Given the description of an element on the screen output the (x, y) to click on. 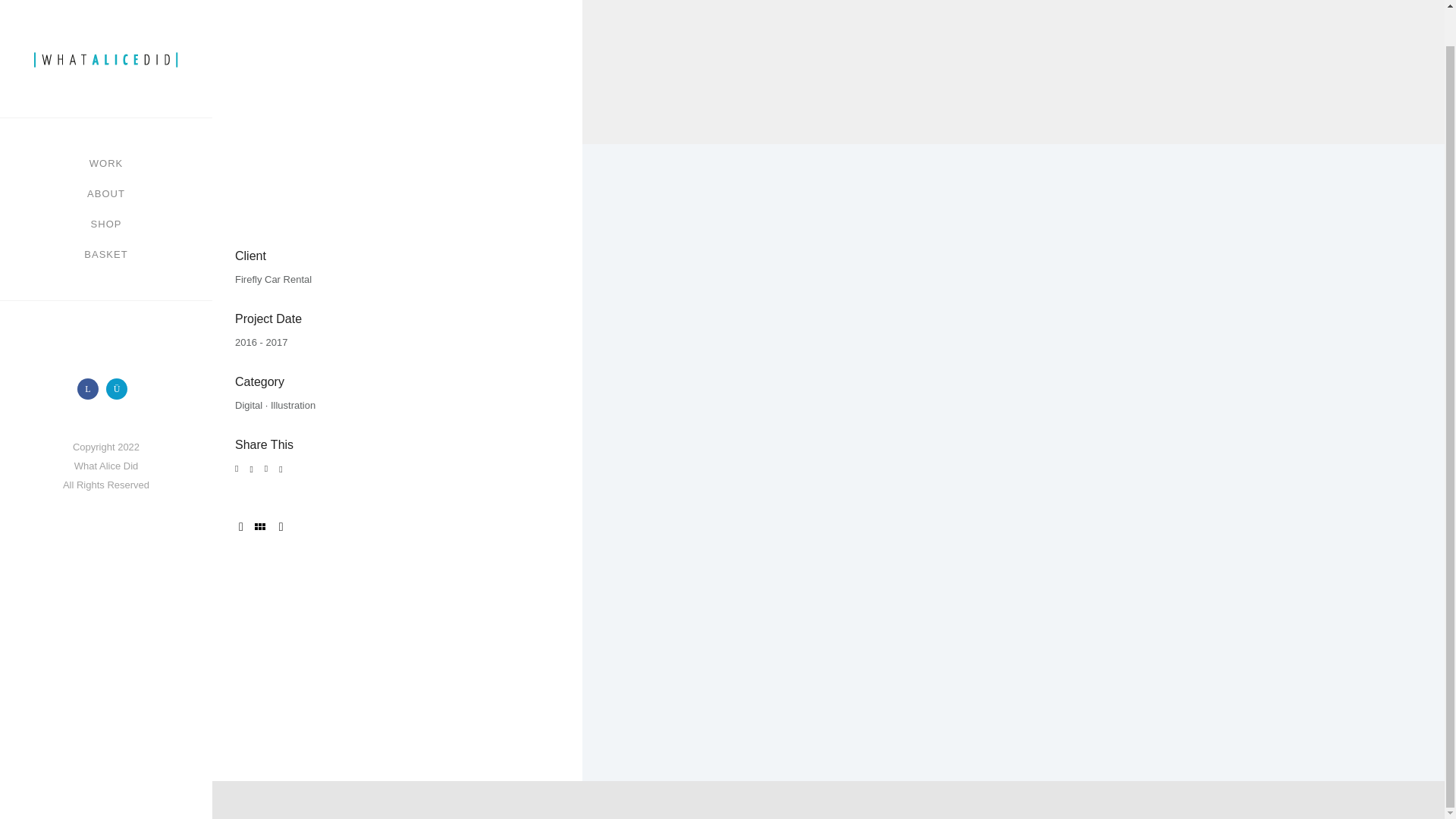
SHOP (106, 186)
Basket (106, 216)
About (106, 155)
Illustration (292, 405)
Shop (106, 186)
ABOUT (106, 155)
BASKET (106, 216)
Digital (248, 405)
Work (105, 125)
WORK (105, 125)
